Given the description of an element on the screen output the (x, y) to click on. 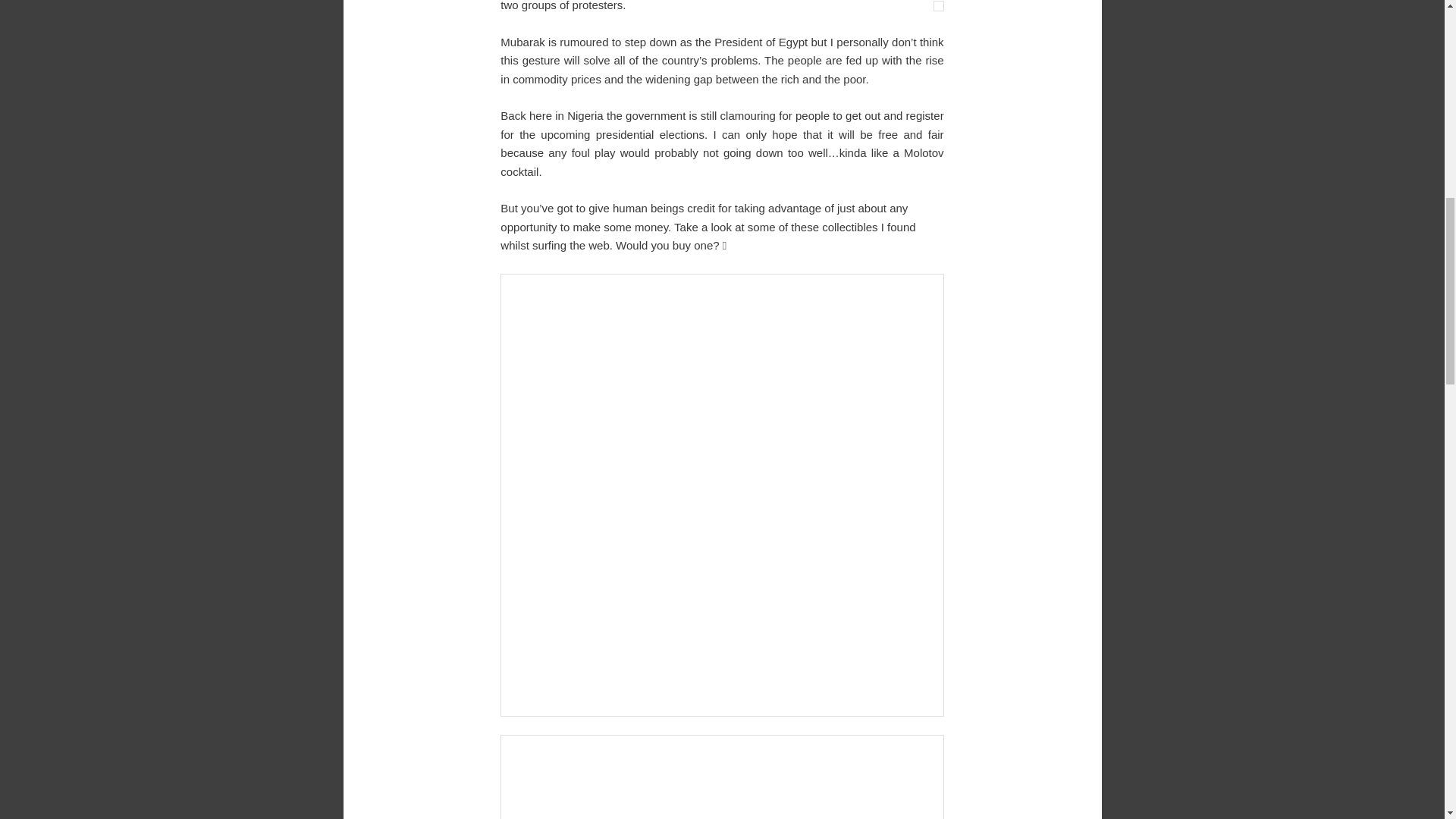
molotov - polo (721, 776)
misspaine.tumblr (938, 5)
